Given the description of an element on the screen output the (x, y) to click on. 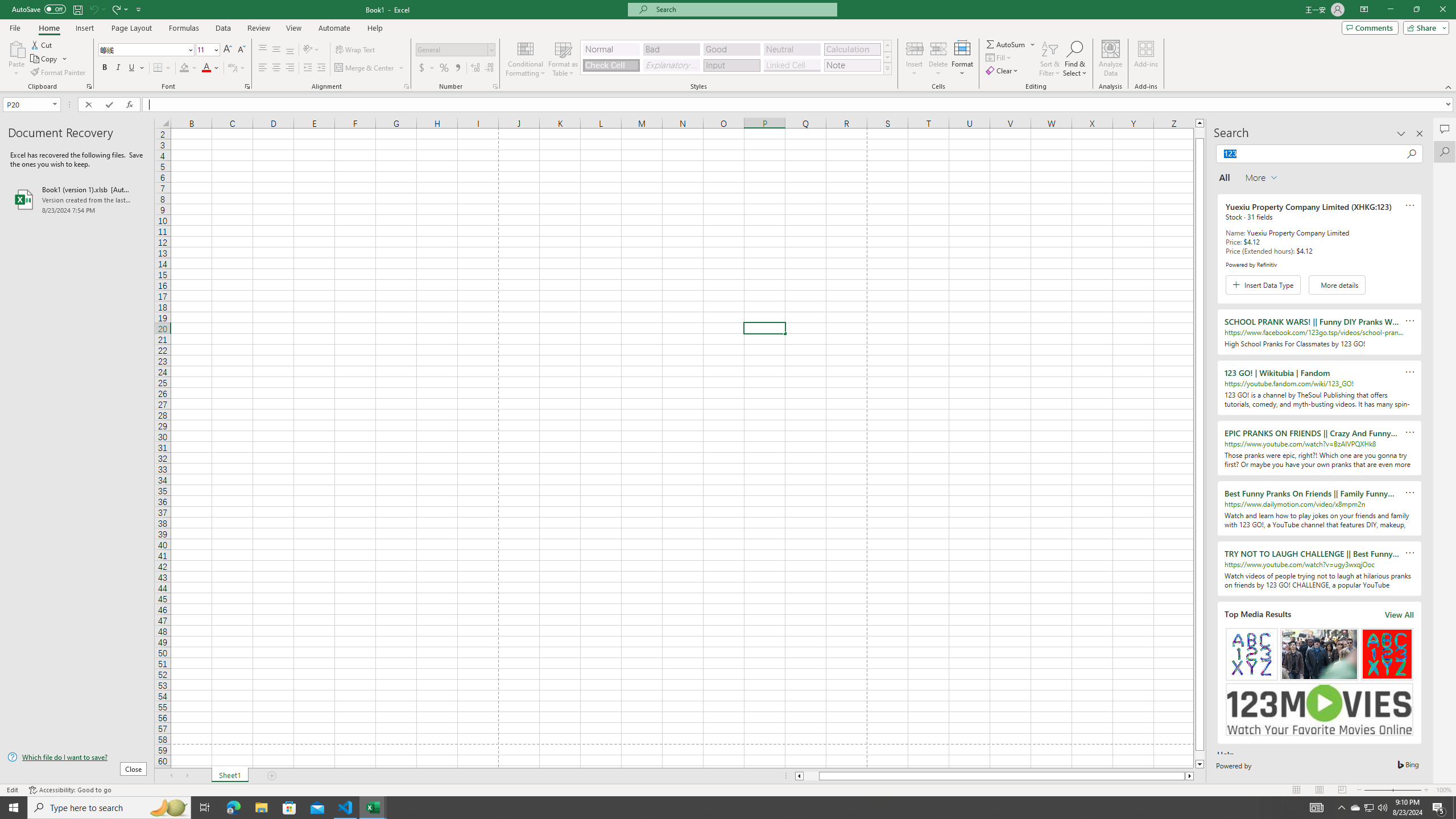
Fill Color RGB(255, 255, 0) (183, 67)
Insert Cells (914, 48)
Align Right (290, 67)
Top Align (262, 49)
